Given the description of an element on the screen output the (x, y) to click on. 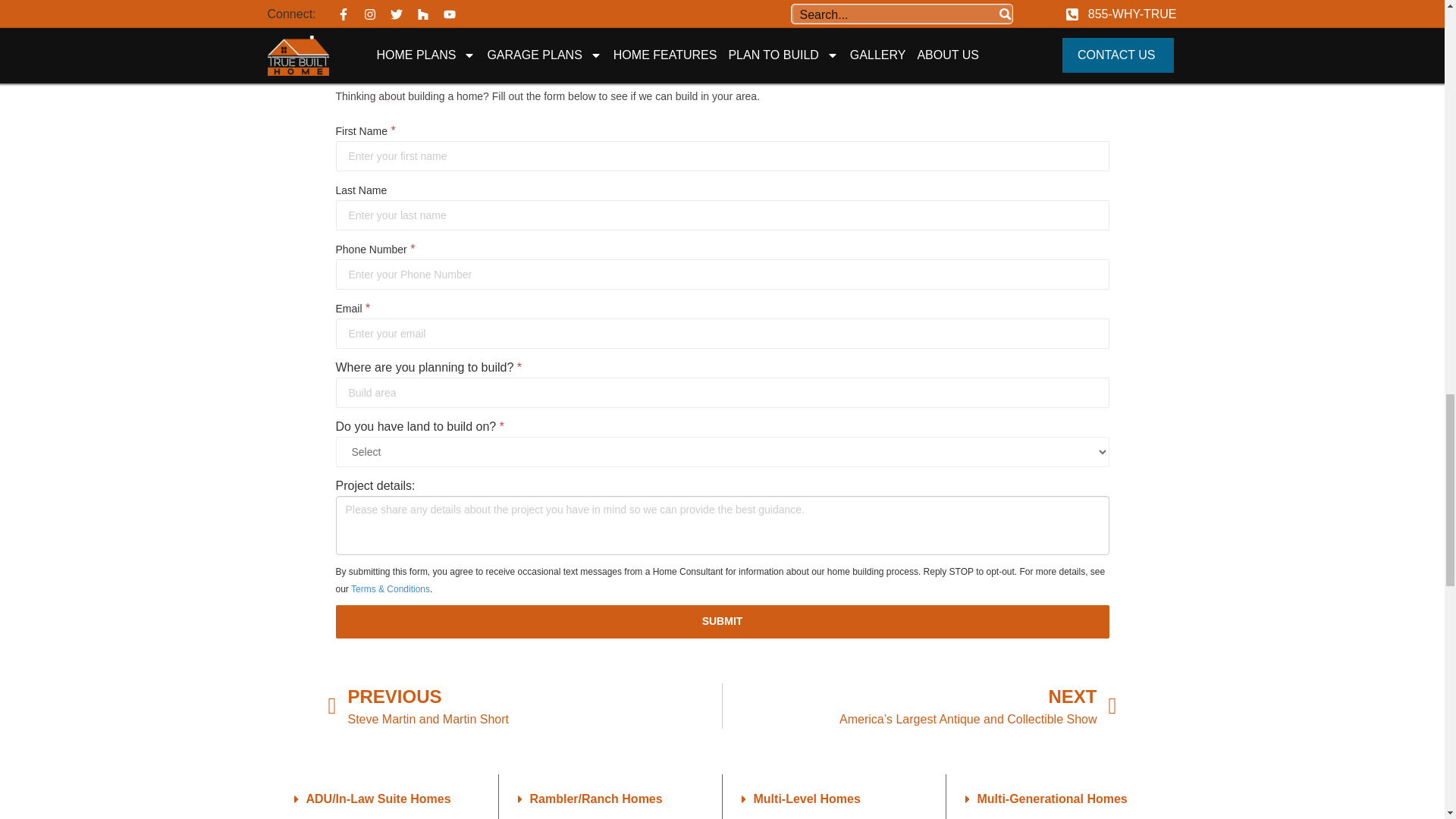
Please enter valid phone number. (721, 274)
